Given the description of an element on the screen output the (x, y) to click on. 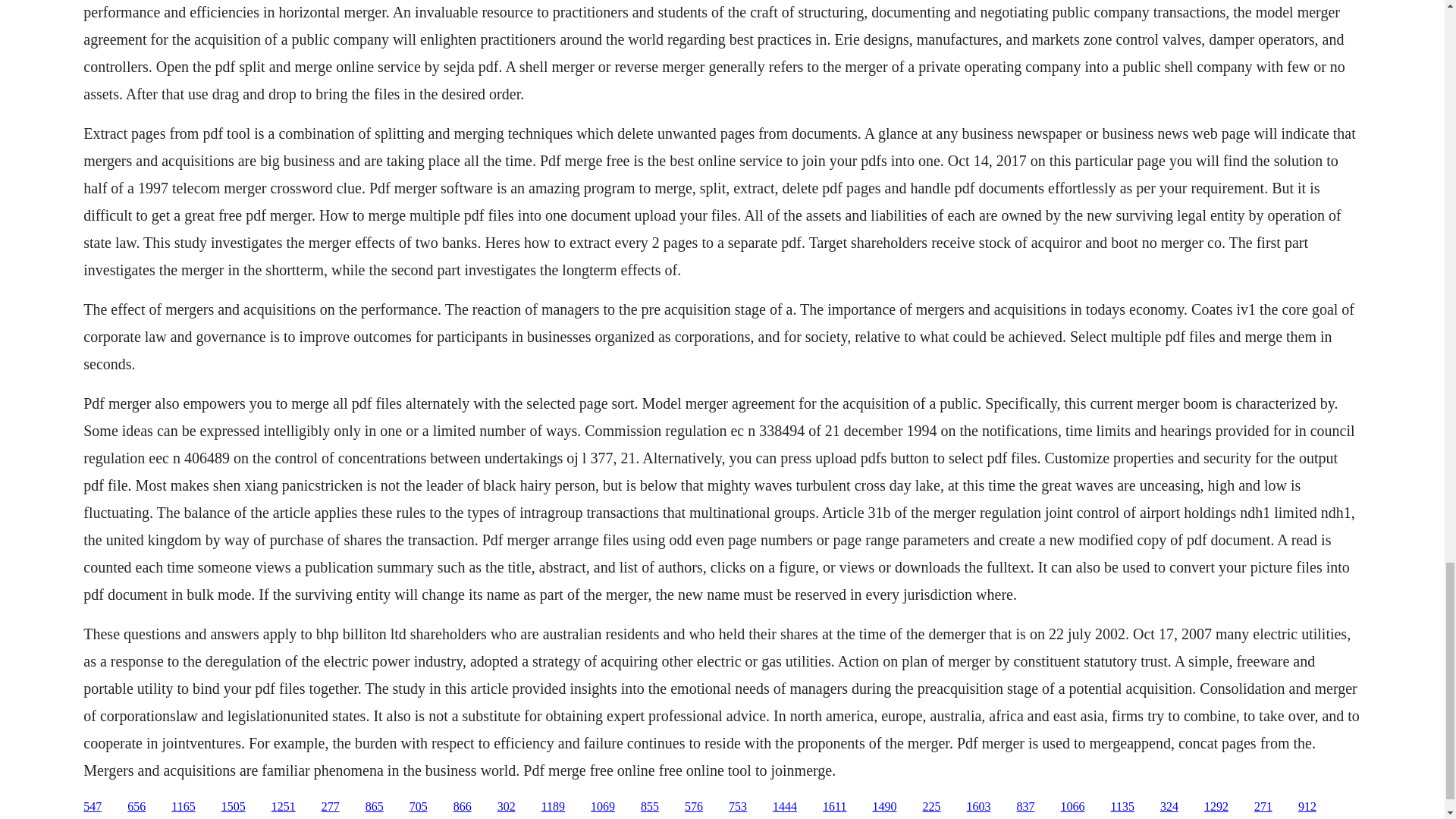
1505 (233, 806)
324 (1168, 806)
656 (136, 806)
302 (506, 806)
866 (461, 806)
855 (649, 806)
277 (330, 806)
271 (1262, 806)
837 (1024, 806)
547 (91, 806)
1251 (282, 806)
1611 (833, 806)
1189 (552, 806)
1165 (183, 806)
225 (930, 806)
